Given the description of an element on the screen output the (x, y) to click on. 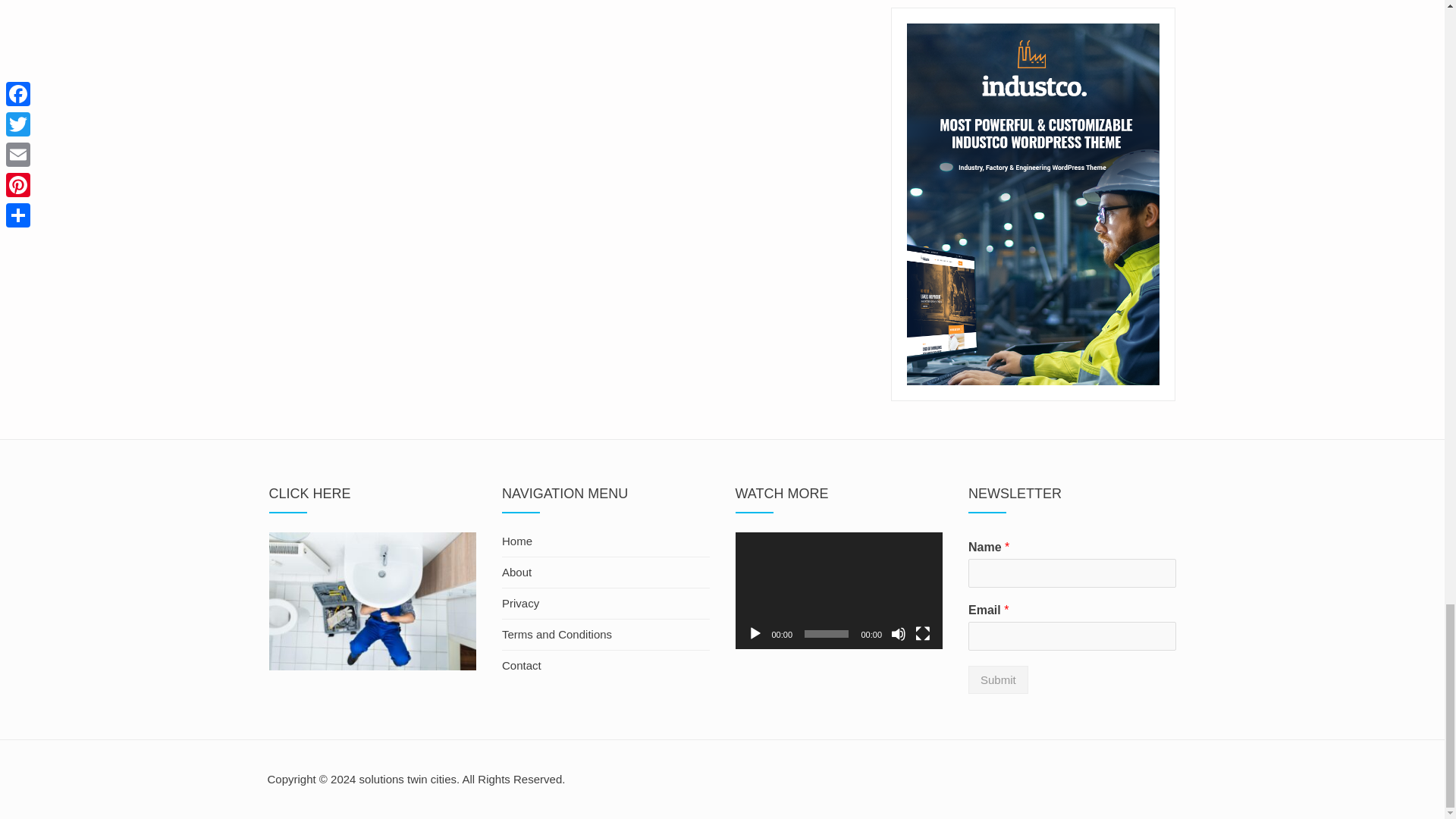
Mute (898, 633)
Fullscreen (922, 633)
Play (755, 633)
